Given the description of an element on the screen output the (x, y) to click on. 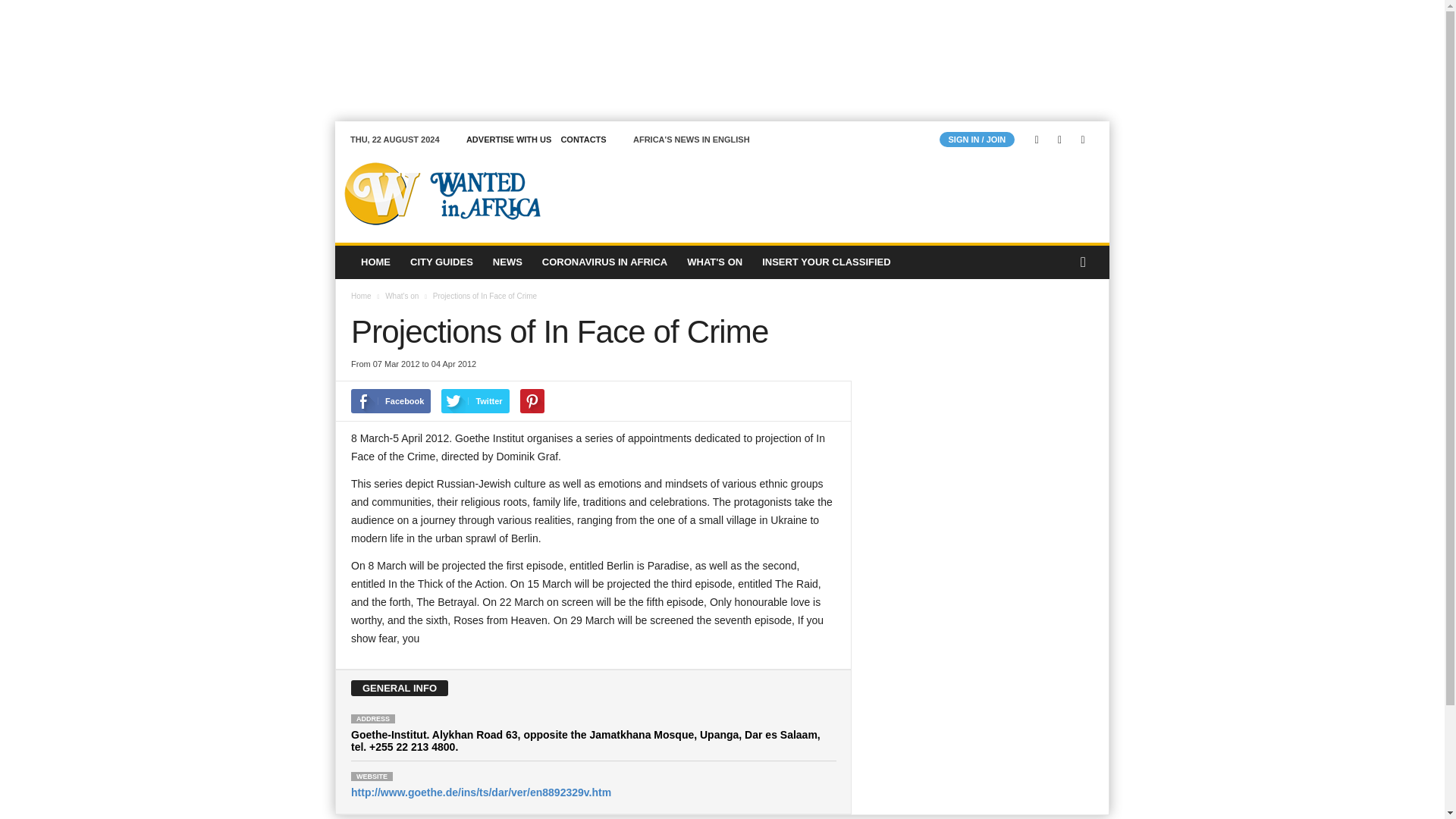
CONTACTS (582, 139)
Wanted in Africa (437, 192)
ADVERTISE WITH US (508, 139)
Wanted in Africa (437, 192)
